Given the description of an element on the screen output the (x, y) to click on. 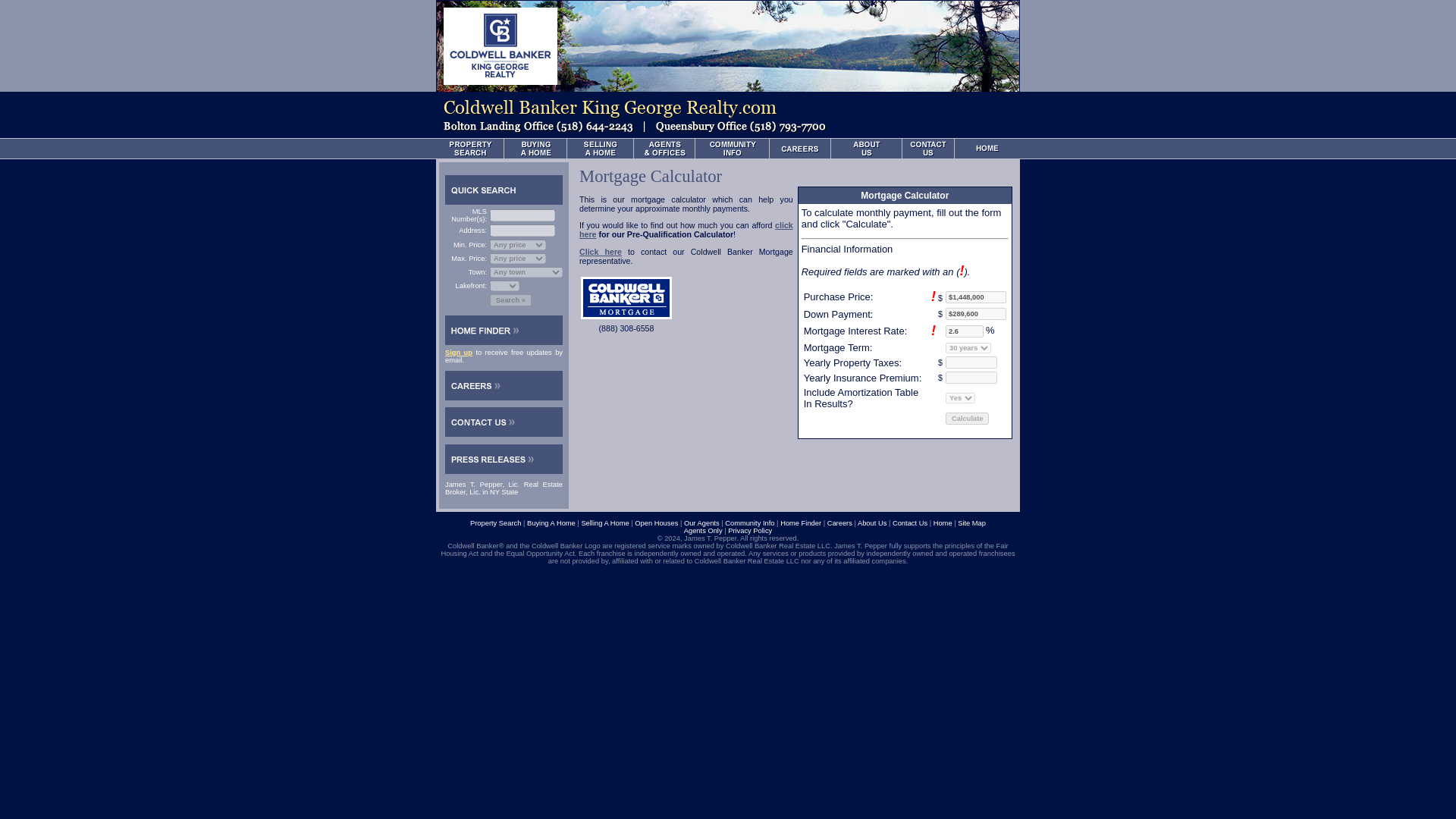
About Us (871, 523)
Home Finder (800, 523)
Click here (600, 251)
Buying A Home (551, 523)
Calculate (966, 418)
Sign up (458, 352)
Site Map (971, 523)
Contact Us (909, 523)
Agents Only (703, 530)
2.6 (964, 331)
Home (942, 523)
Our Agents (701, 523)
Open Houses (656, 523)
click here (686, 229)
Careers (839, 523)
